Given the description of an element on the screen output the (x, y) to click on. 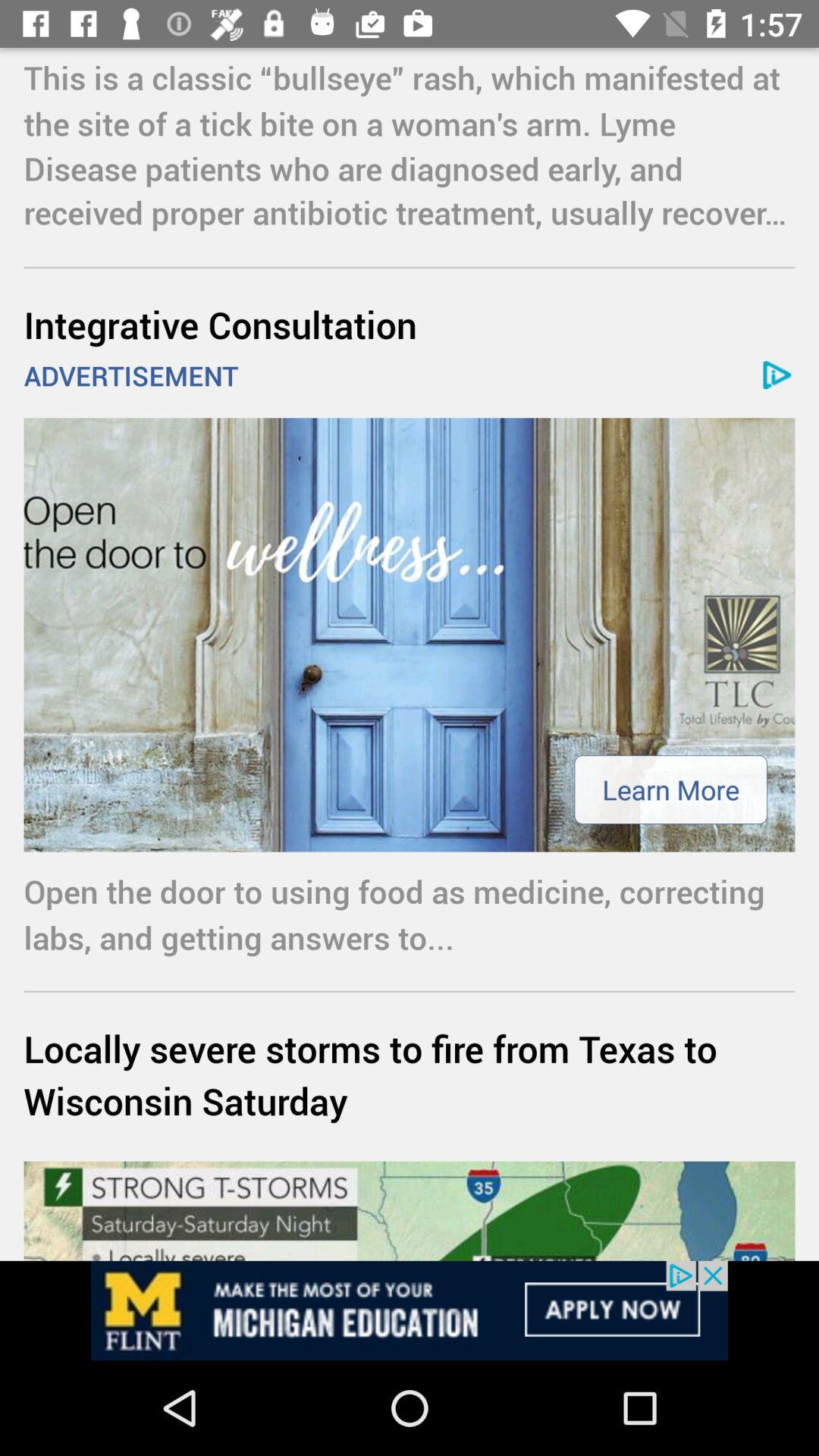
know about the advertisement (409, 1310)
